Given the description of an element on the screen output the (x, y) to click on. 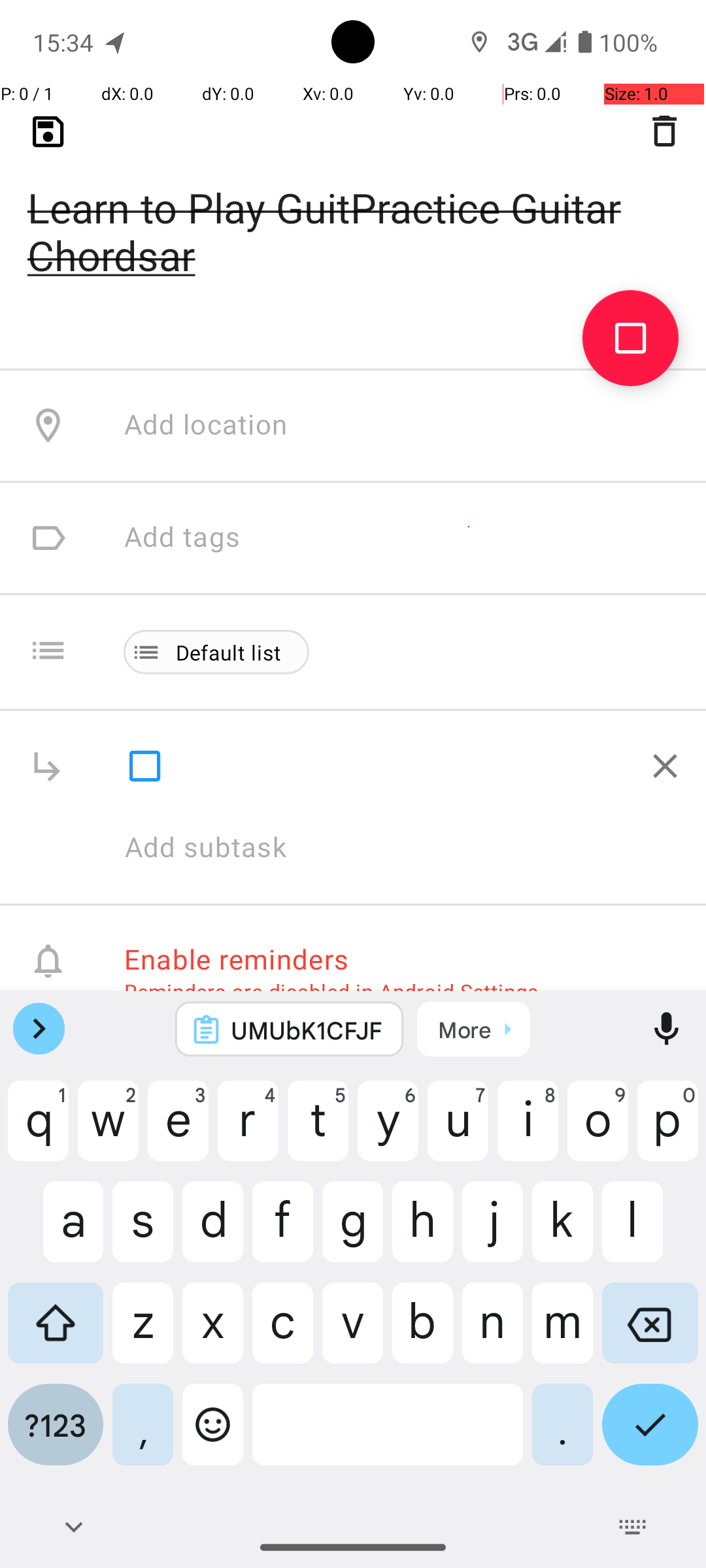
Learn to Play GuitPractice Guitar Chordsar Element type: android.widget.EditText (353, 210)
